Given the description of an element on the screen output the (x, y) to click on. 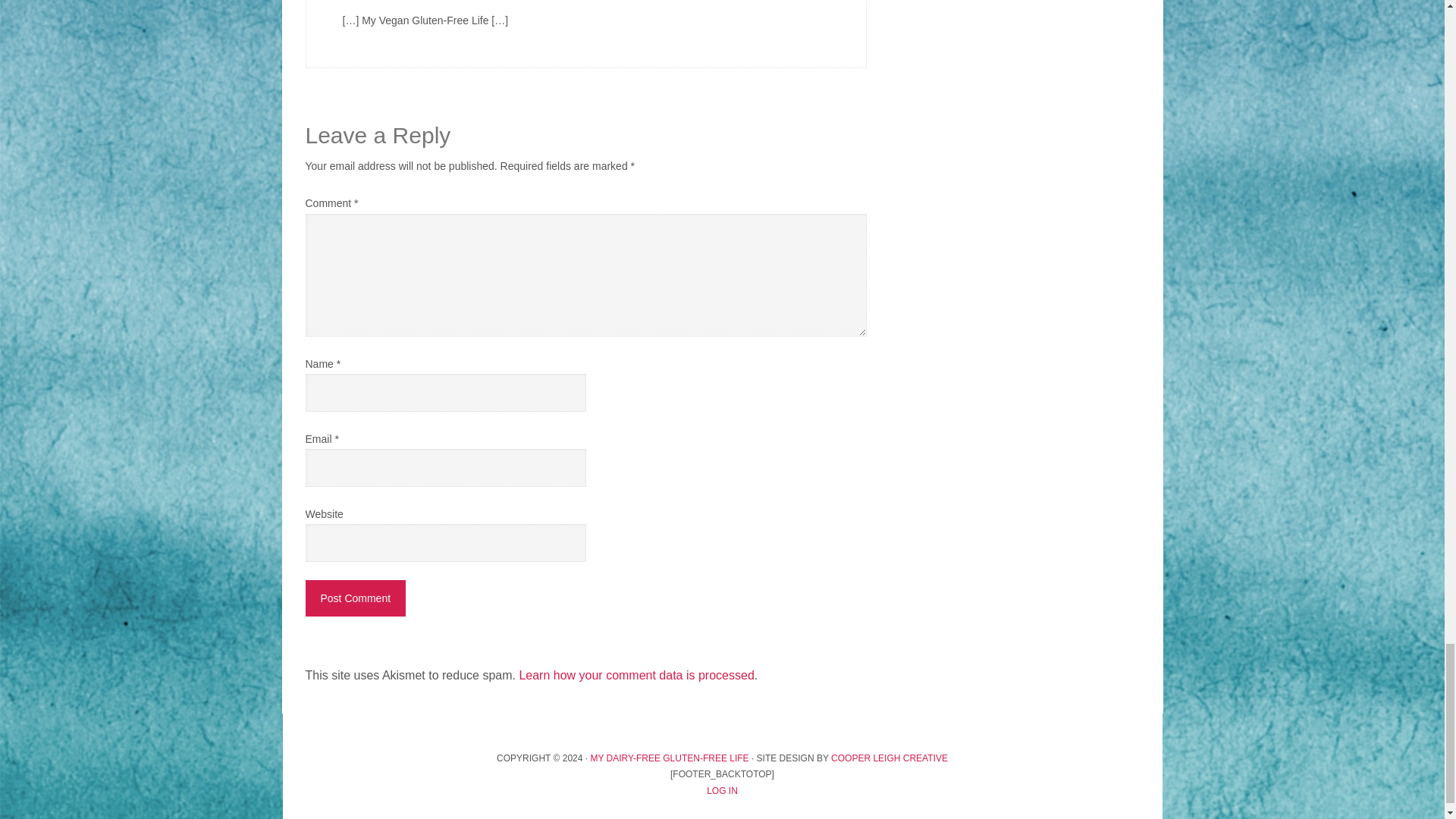
Post Comment (355, 597)
